Given the description of an element on the screen output the (x, y) to click on. 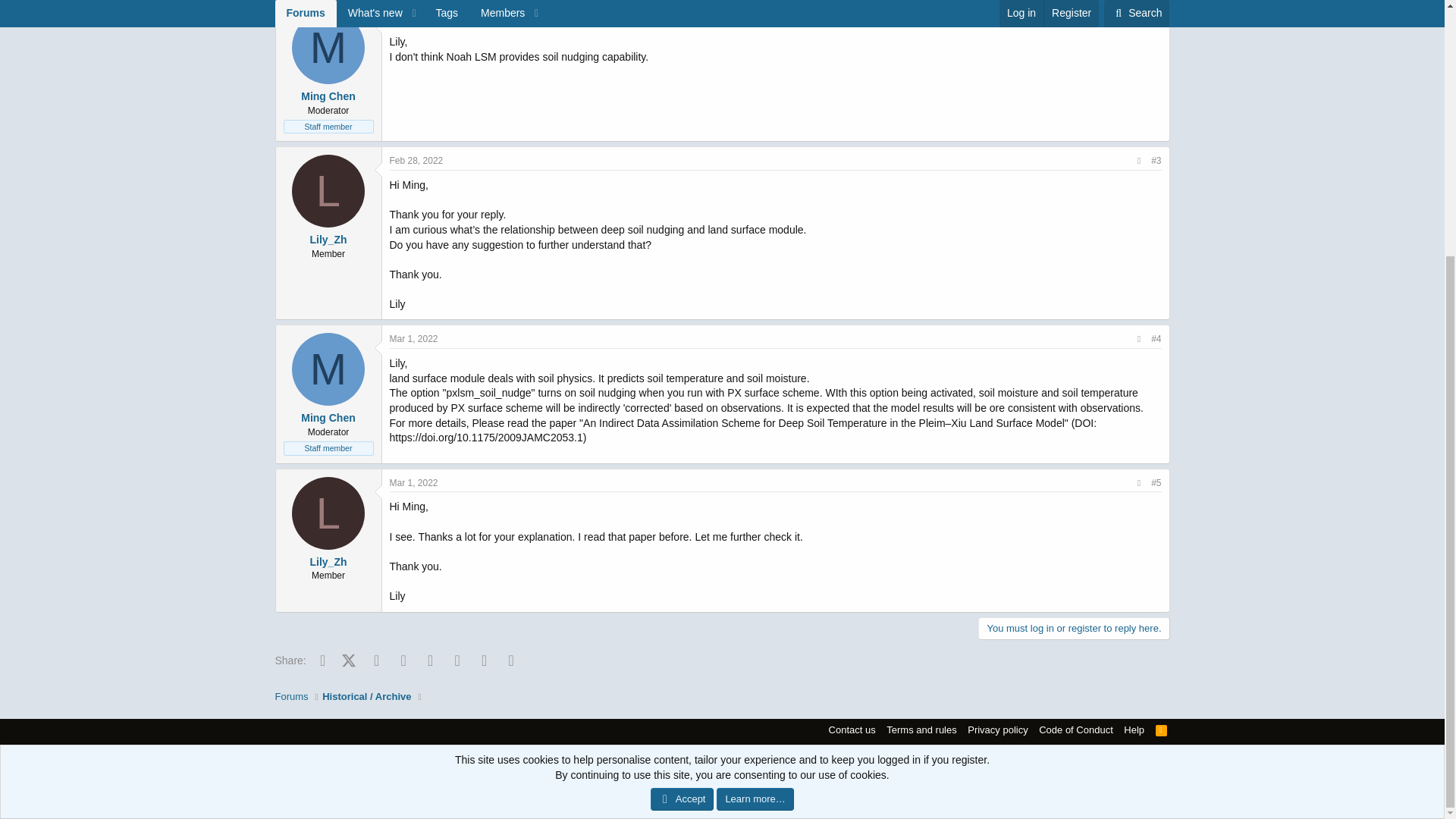
Mar 1, 2022 at 12:38 PM (414, 482)
Mar 1, 2022 at 9:08 AM (414, 338)
M (328, 47)
Feb 28, 2022 at 1:40 PM (417, 160)
Feb 14, 2022 at 7:43 PM (417, 17)
RSS (1161, 729)
